Given the description of an element on the screen output the (x, y) to click on. 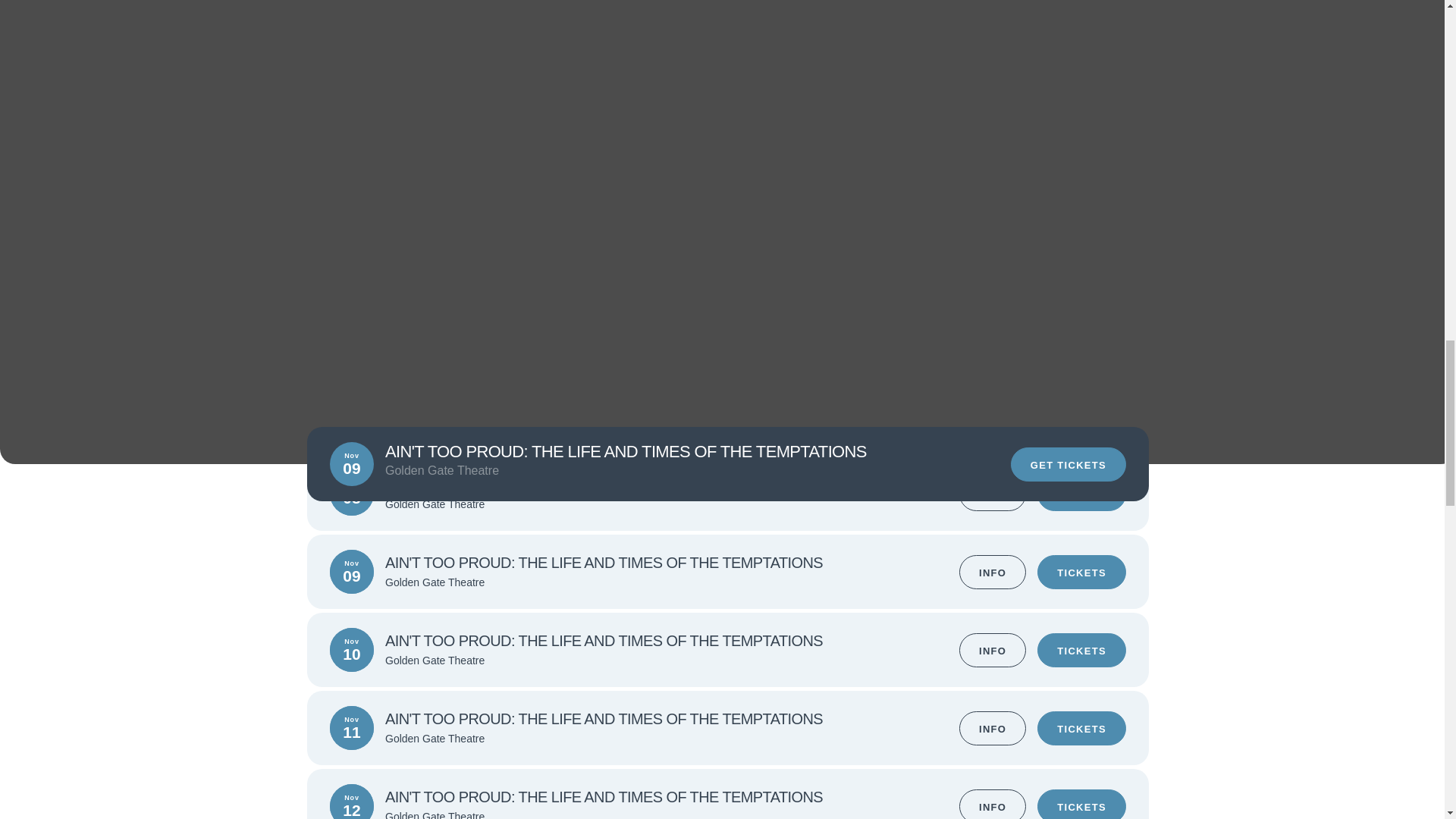
INFO (992, 571)
INFO (992, 728)
TICKETS (1080, 728)
TICKETS (1080, 649)
INFO (992, 492)
GET TICKETS (1067, 464)
INFO (992, 803)
INFO (992, 649)
TICKETS (1080, 571)
TICKETS (1080, 803)
TICKETS (1080, 492)
